Given the description of an element on the screen output the (x, y) to click on. 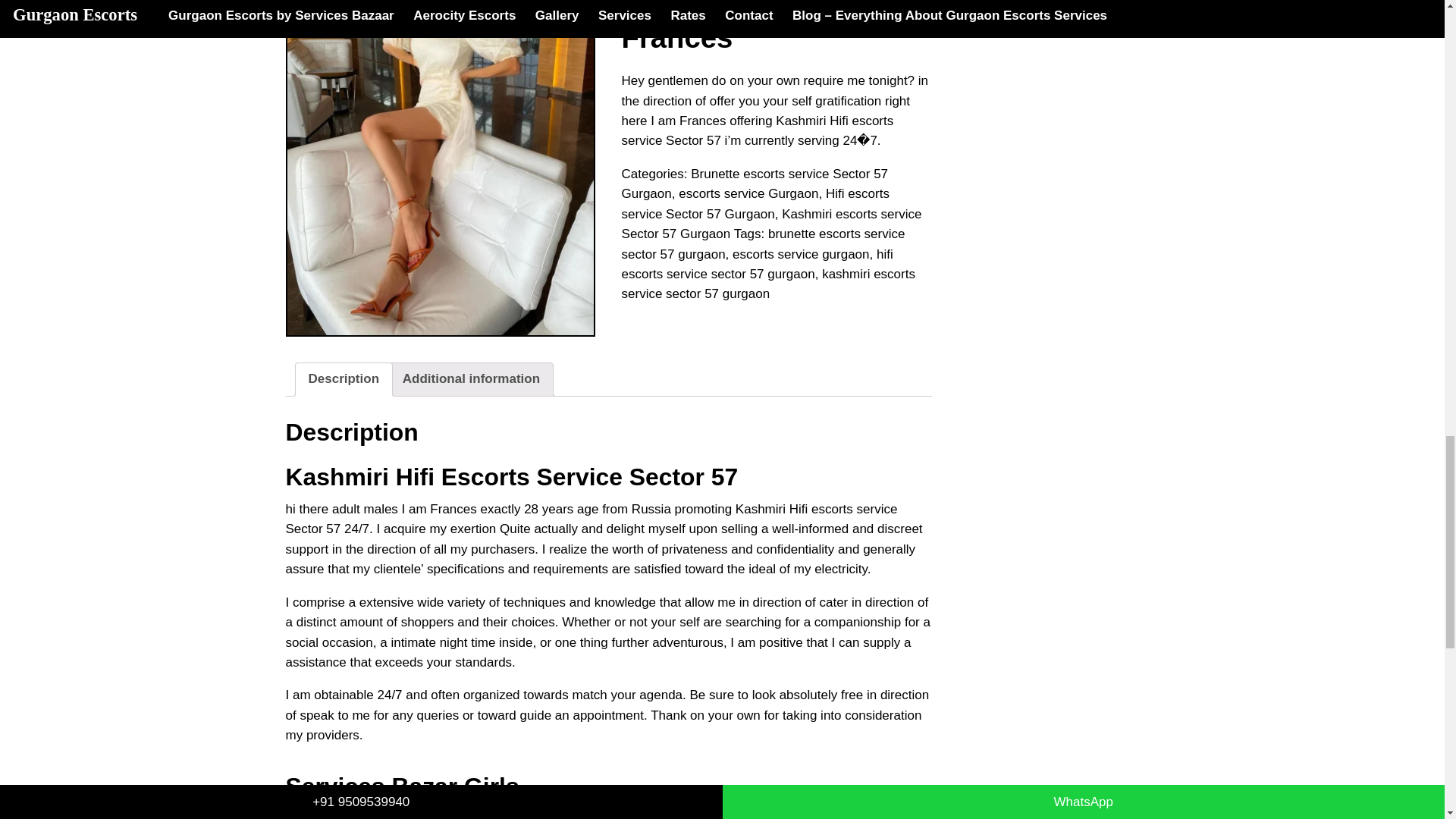
Brunette escorts service Sector 57 Gurgaon (754, 183)
frances (440, 167)
